Given the description of an element on the screen output the (x, y) to click on. 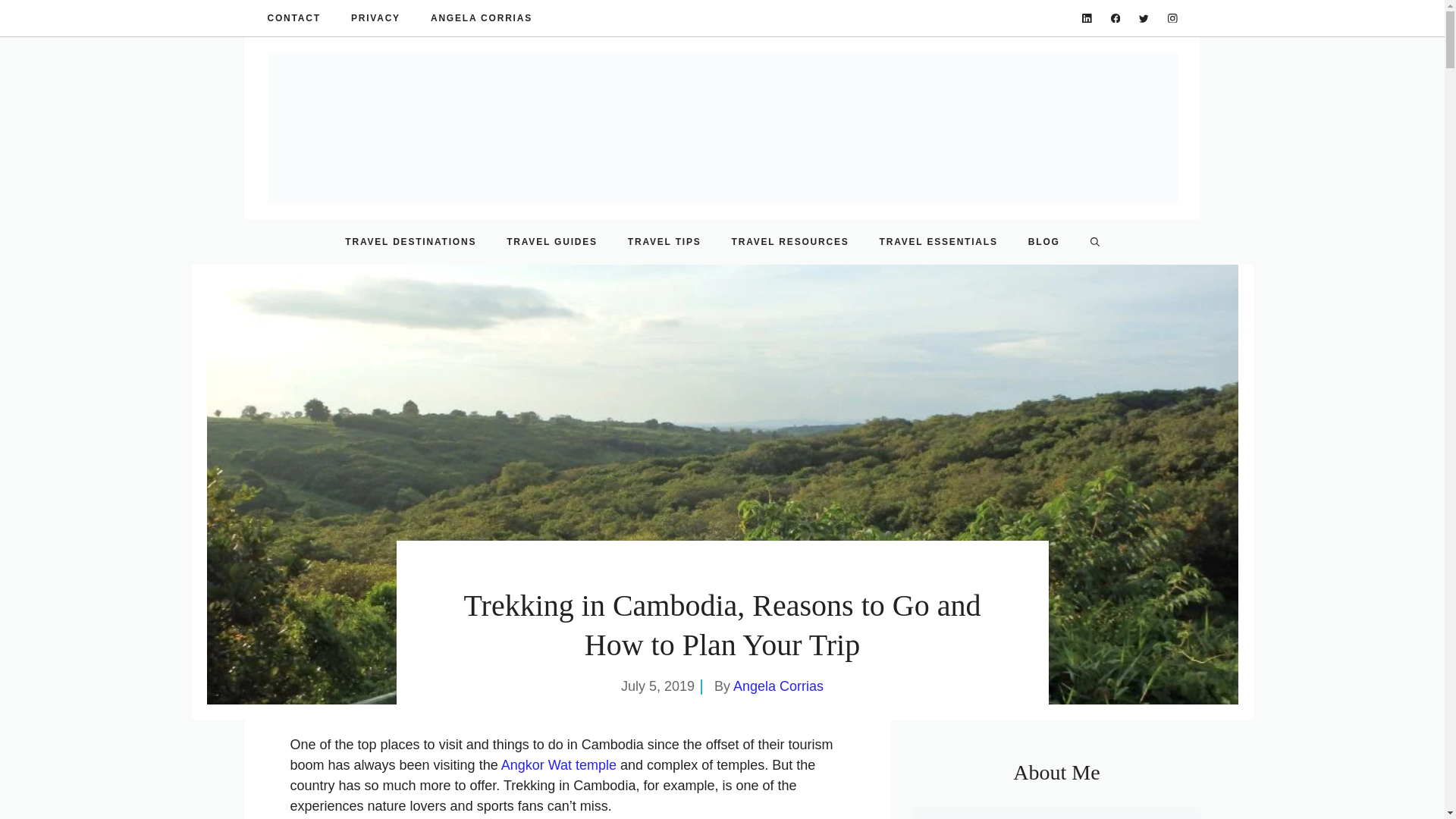
CONTACT (293, 18)
TRAVEL GUIDES (552, 241)
Angkor Wat temple (557, 765)
ANGELA CORRIAS (481, 18)
TRAVEL ESSENTIALS (938, 241)
BLOG (1044, 241)
TRAVEL RESOURCES (790, 241)
PRIVACY (375, 18)
TRAVEL TIPS (664, 241)
Angela Corrias (778, 685)
